Given the description of an element on the screen output the (x, y) to click on. 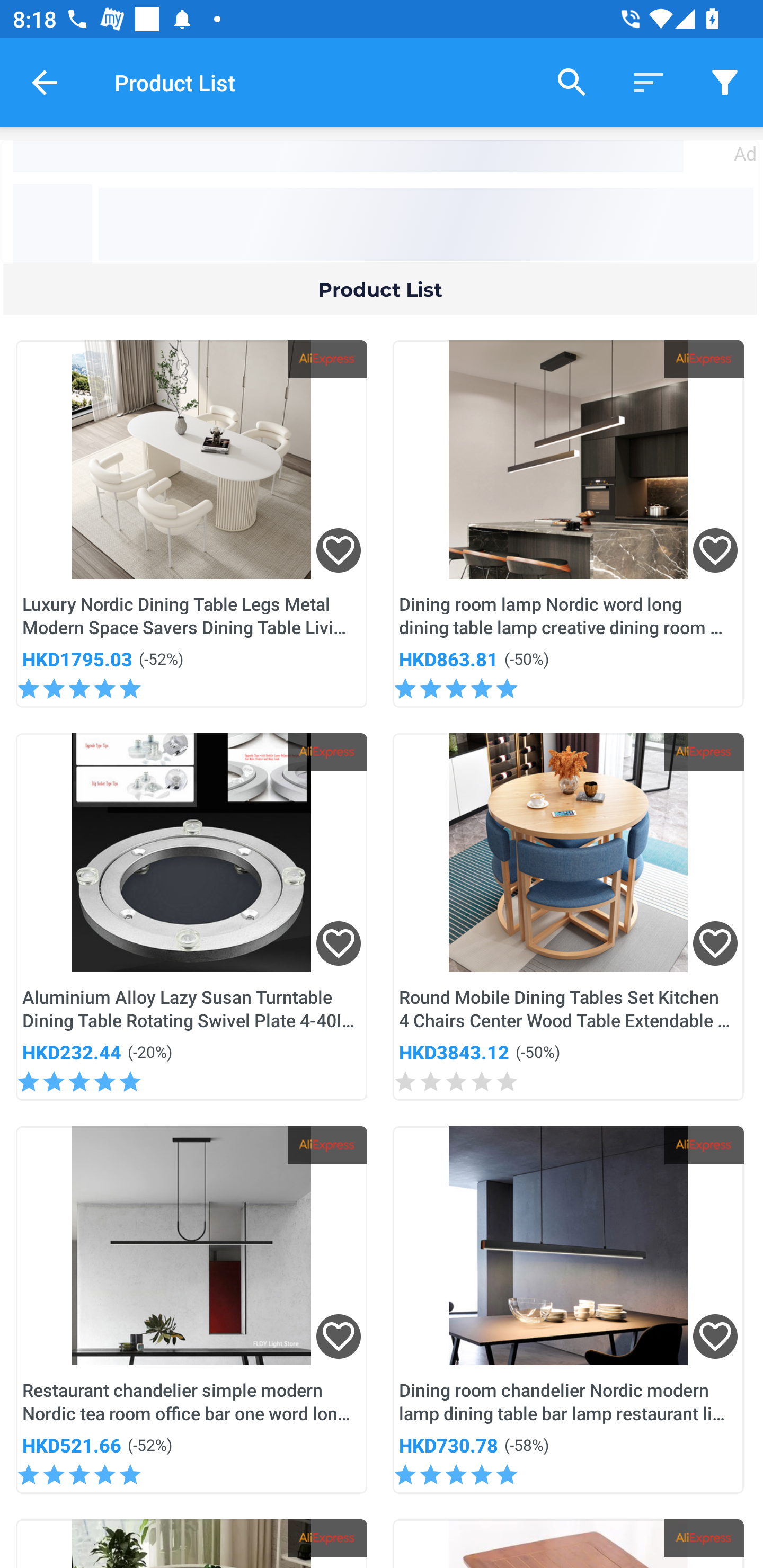
Navigate up (44, 82)
Search (572, 81)
short (648, 81)
short (724, 81)
